Given the description of an element on the screen output the (x, y) to click on. 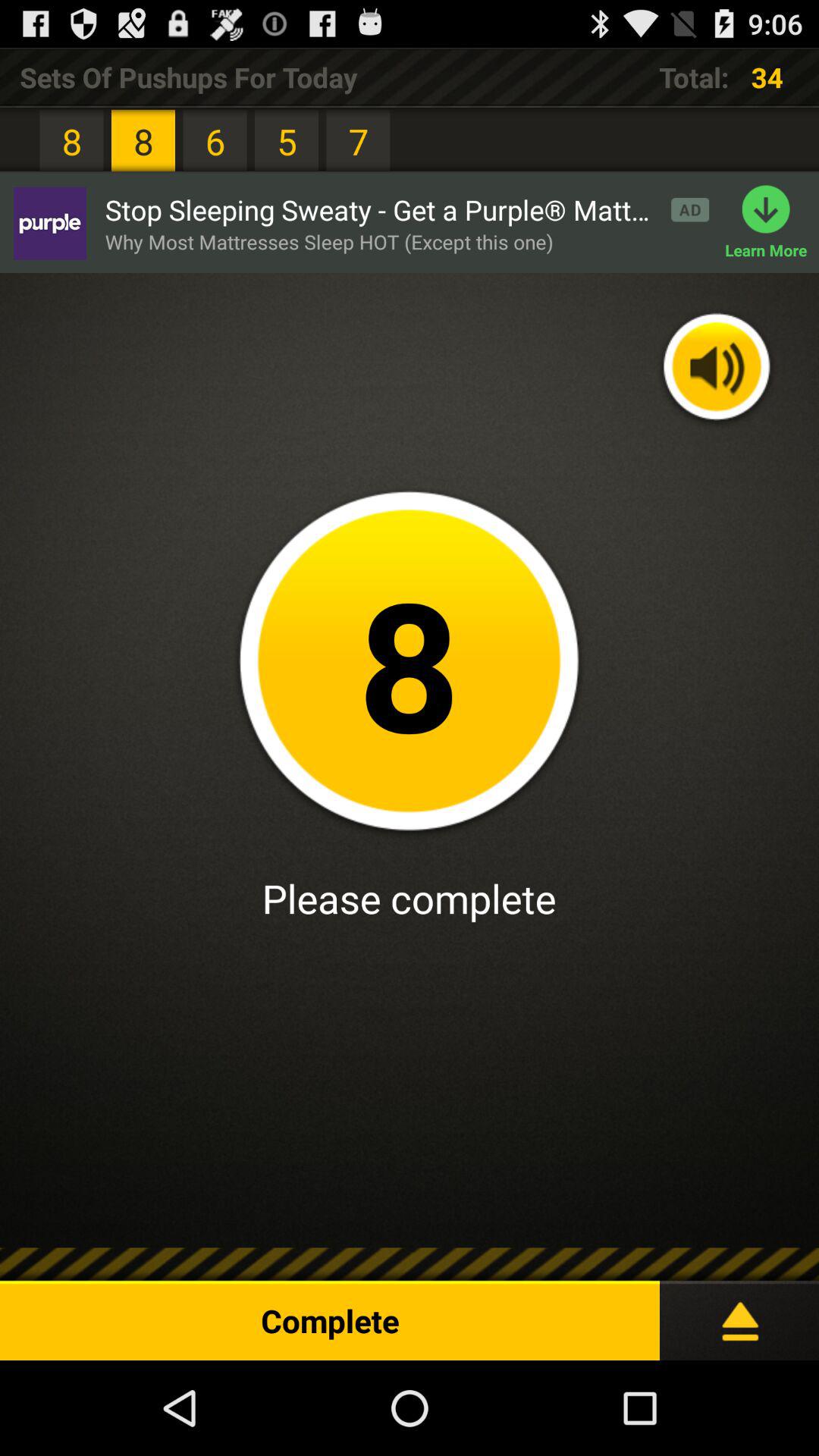
toggle audio (716, 368)
